Given the description of an element on the screen output the (x, y) to click on. 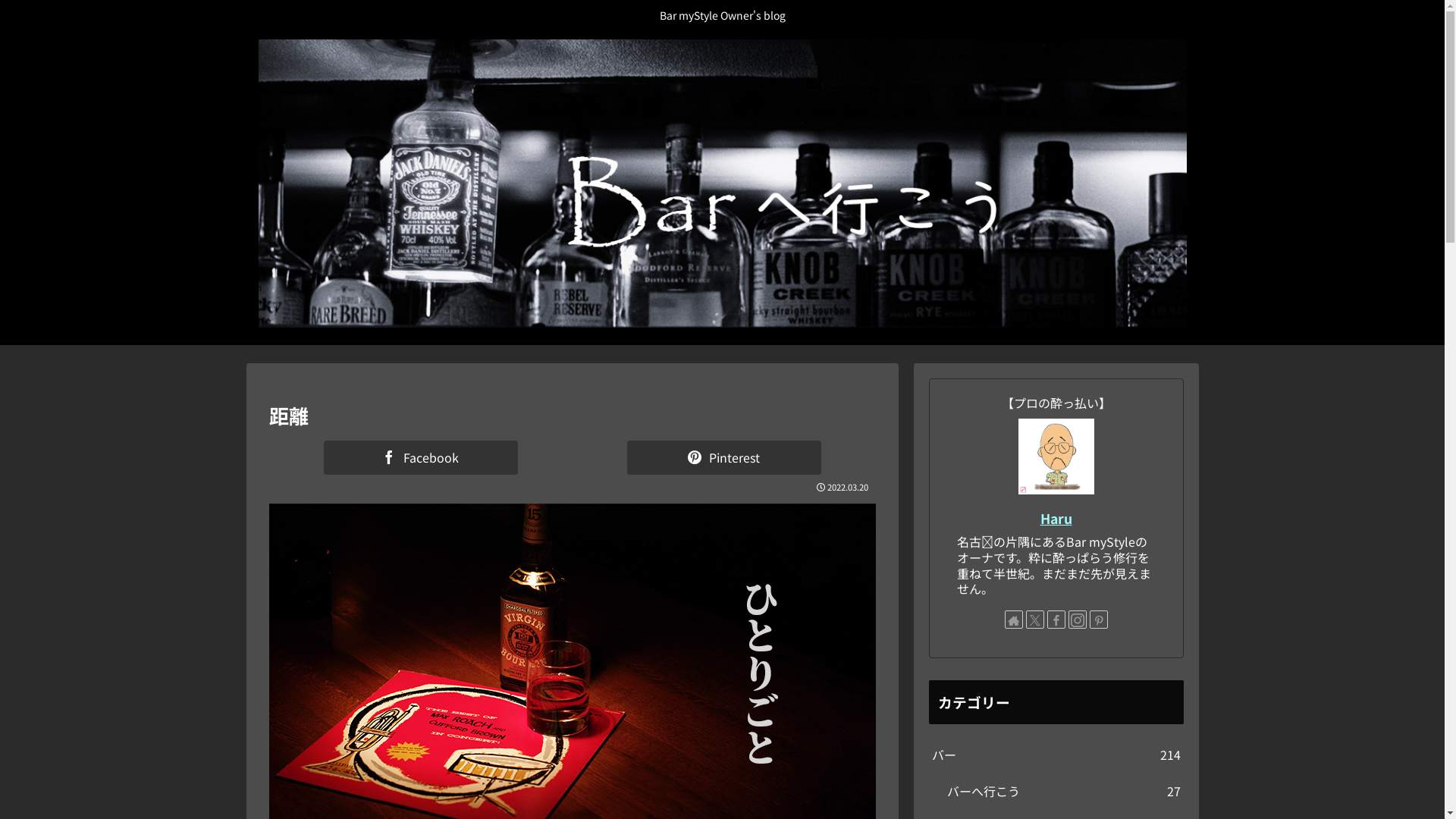
Haru Element type: text (1056, 517)
Facebook Element type: text (420, 457)
Pinterest Element type: text (723, 457)
